Given the description of an element on the screen output the (x, y) to click on. 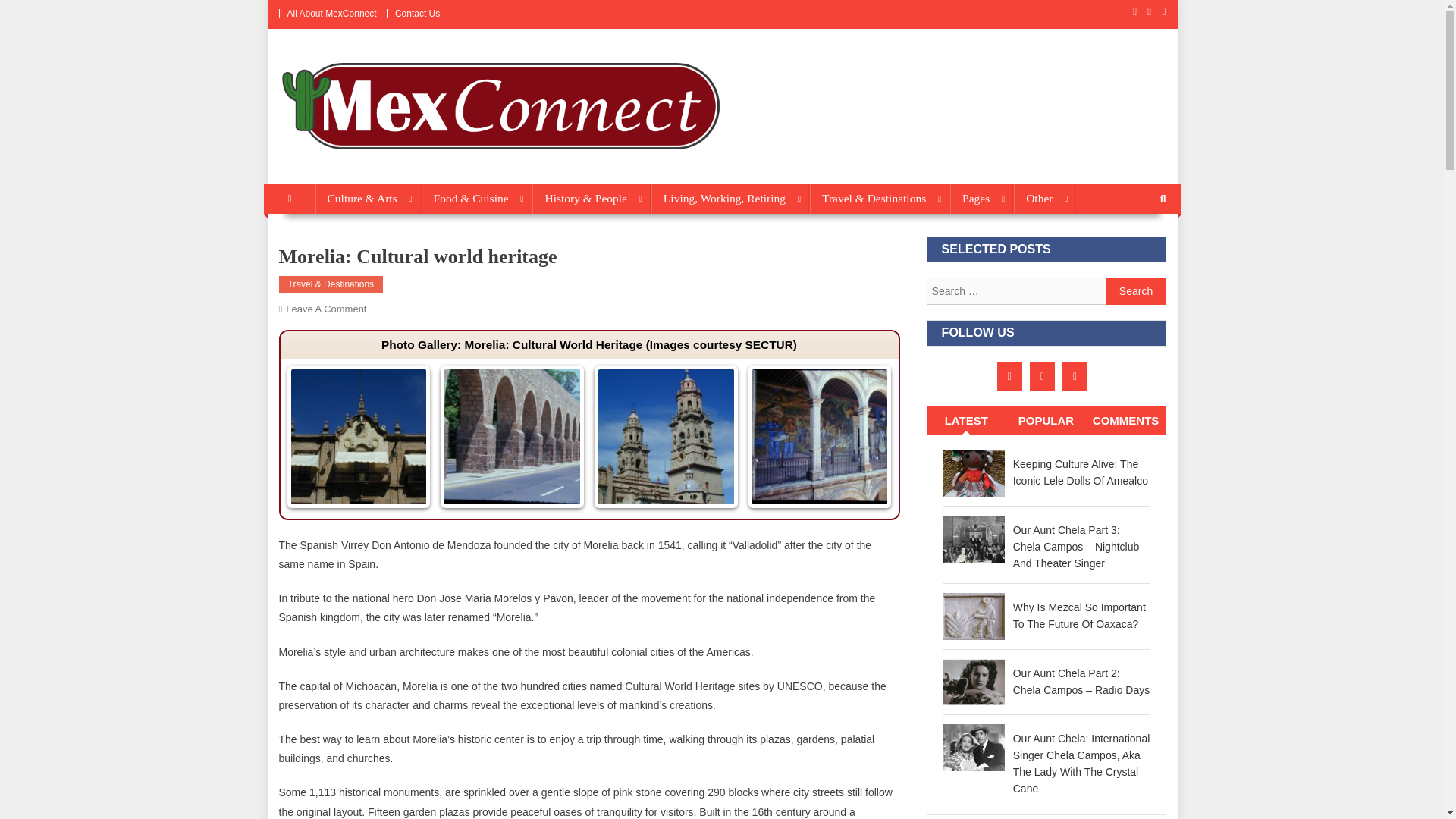
Search (1136, 290)
Living, Working, Retiring (729, 198)
Search (1136, 290)
All About MexConnect (330, 13)
Contact Us (416, 13)
MexConnect (344, 167)
